Given the description of an element on the screen output the (x, y) to click on. 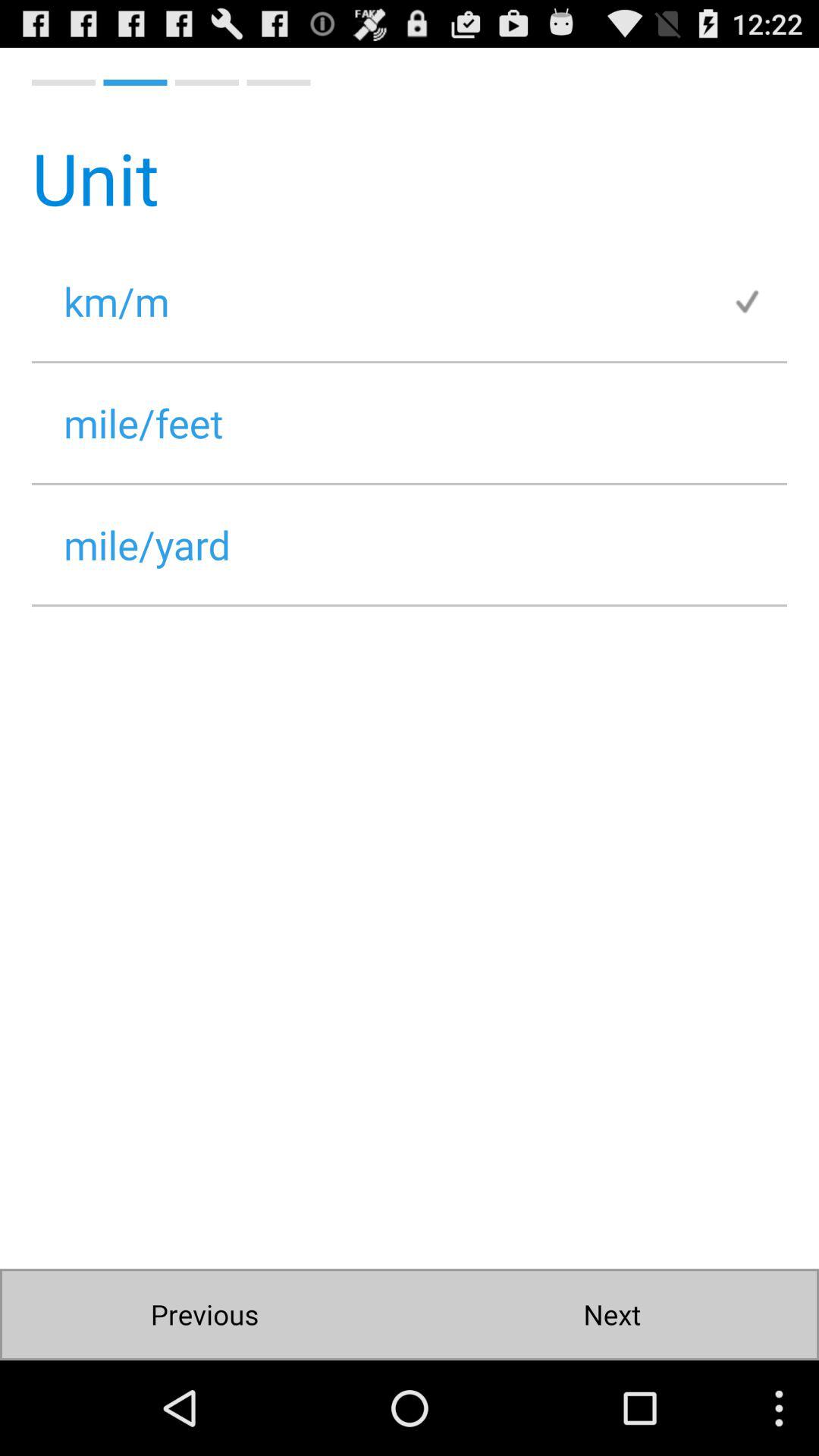
launch km/m icon (381, 300)
